Given the description of an element on the screen output the (x, y) to click on. 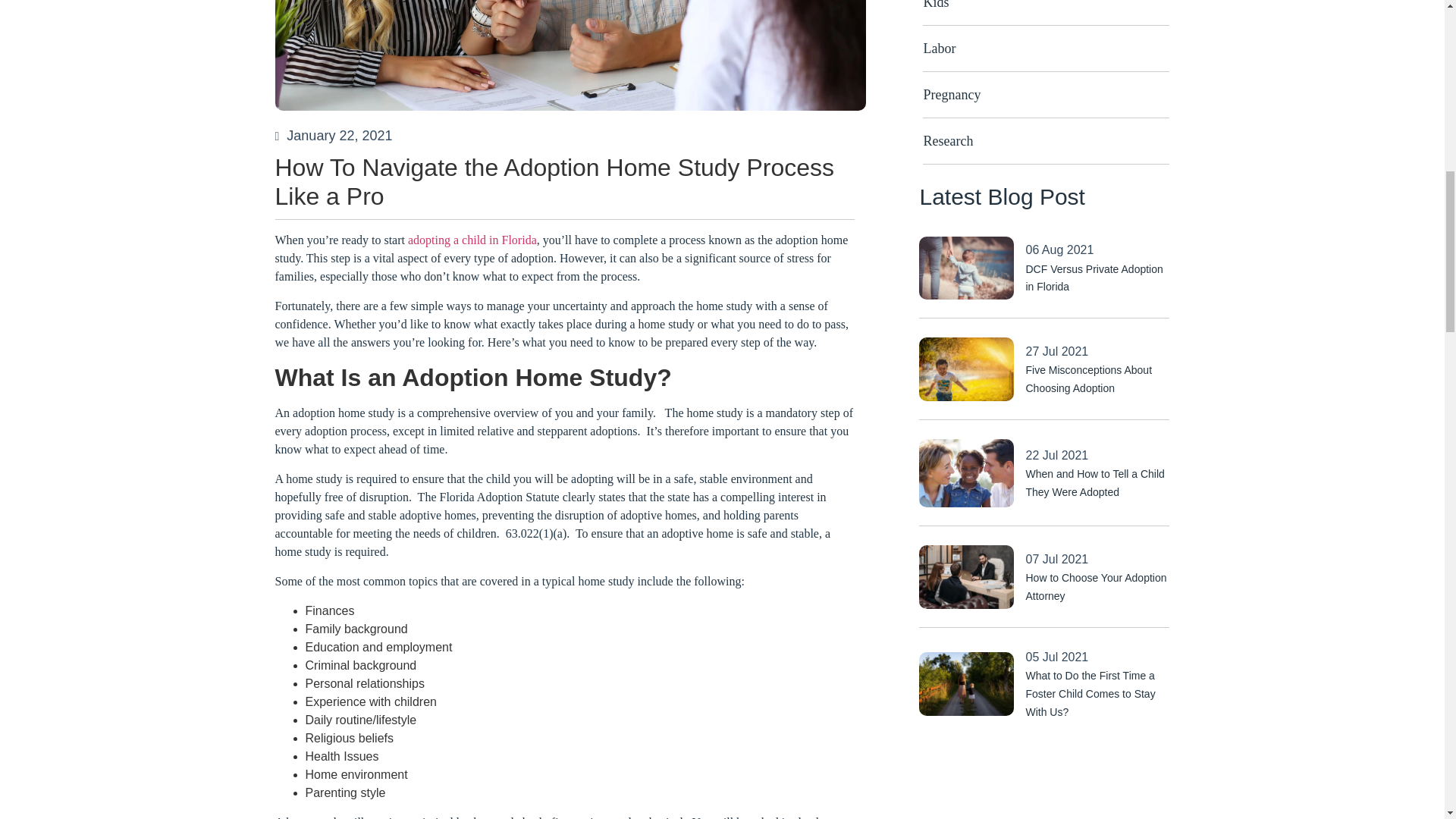
adopting a child in Florida (472, 239)
